Given the description of an element on the screen output the (x, y) to click on. 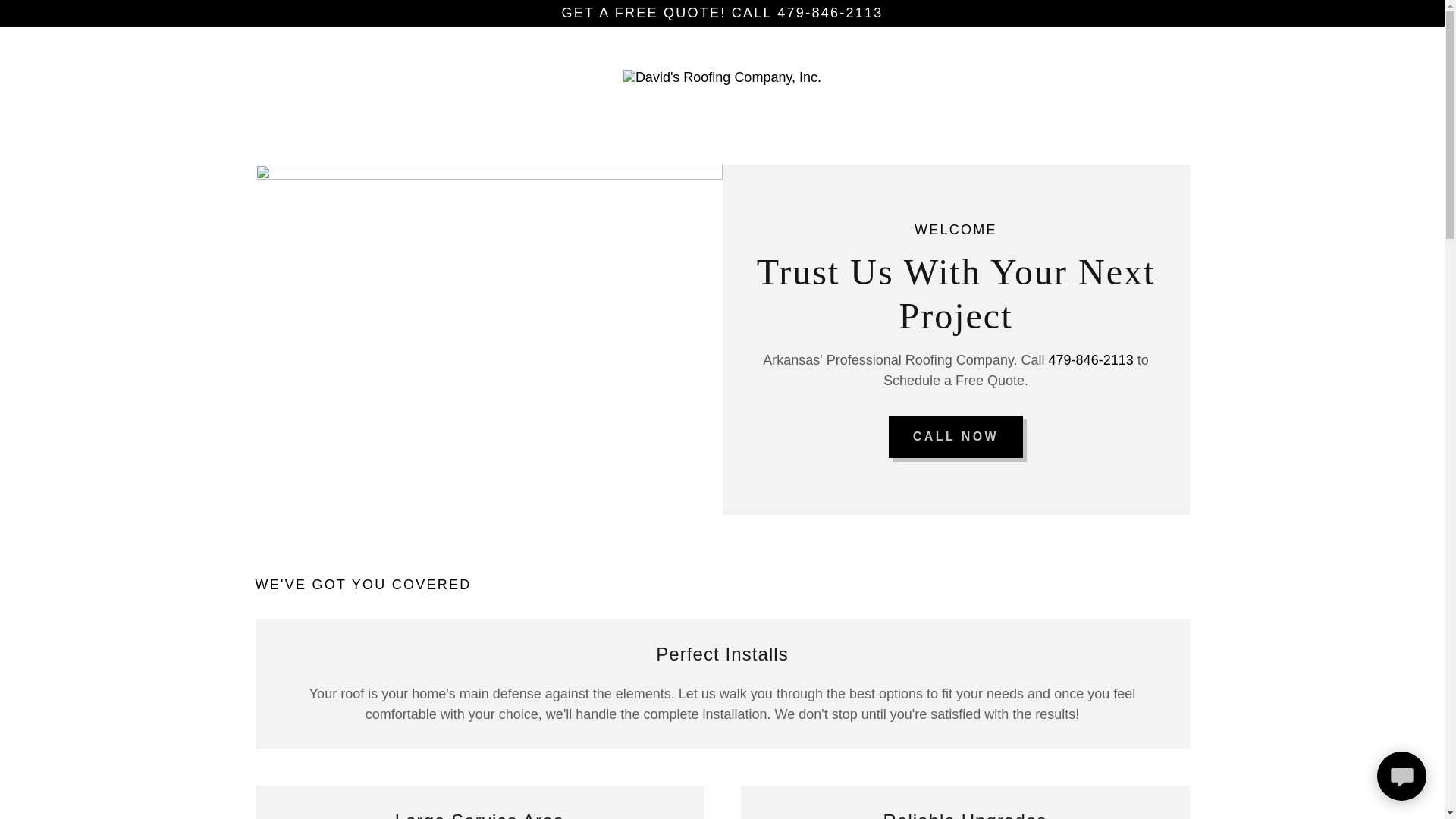
CALL NOW (955, 436)
David's Roofing Company, Inc. (722, 76)
479-846-2113 (1091, 359)
